Given the description of an element on the screen output the (x, y) to click on. 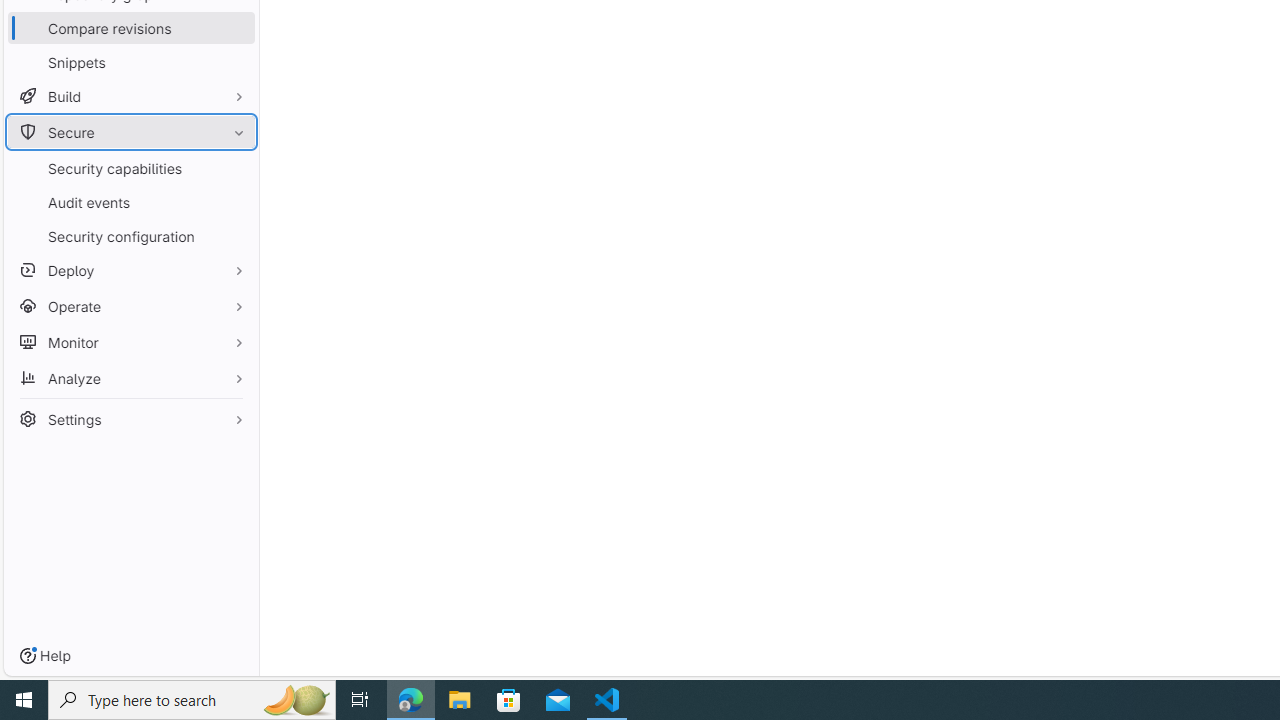
Build (130, 96)
Audit events (130, 201)
Pin Security configuration (234, 236)
Deploy (130, 270)
Operate (130, 306)
Analyze (130, 378)
Build (130, 96)
Monitor (130, 342)
Snippets (130, 62)
Deploy (130, 270)
Monitor (130, 342)
Compare revisions (130, 28)
Security configuration (130, 236)
Pin Snippets (234, 61)
